Given the description of an element on the screen output the (x, y) to click on. 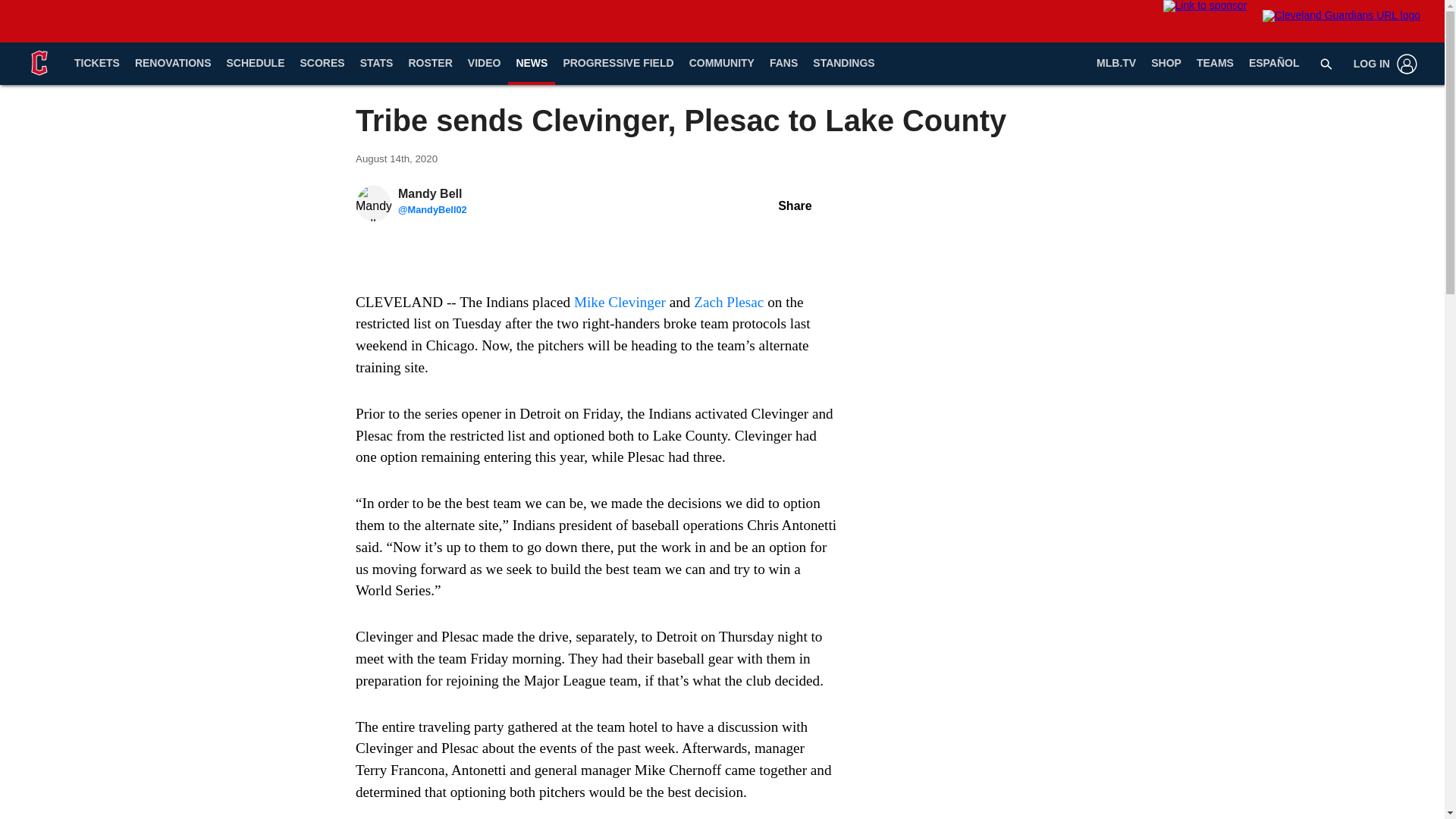
RENOVATIONS (173, 63)
SCHEDULE (255, 63)
TICKETS (97, 63)
search-118068 (1326, 63)
SCORES (322, 63)
STATS (376, 63)
